Given the description of an element on the screen output the (x, y) to click on. 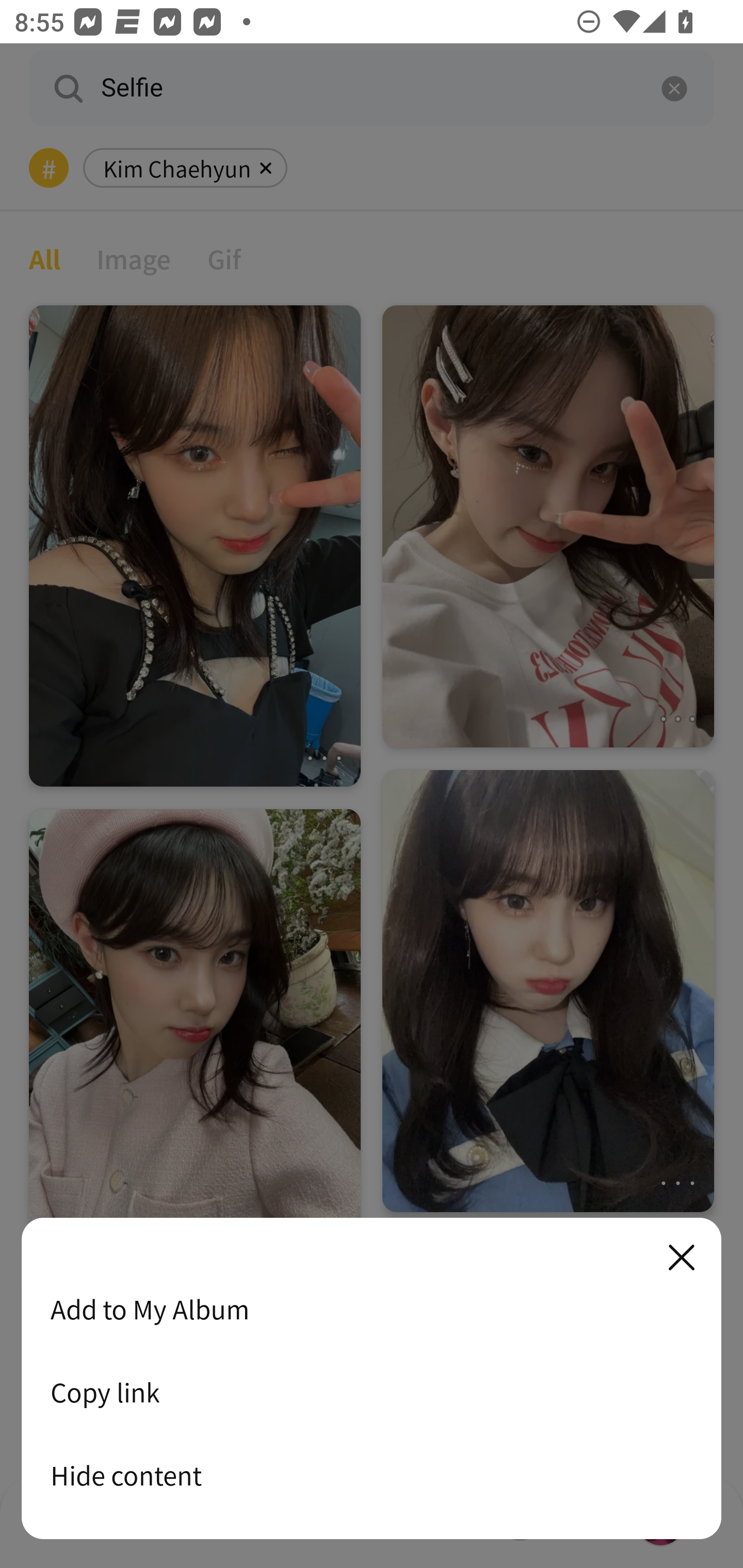
Add to My Album Copy link Hide content (371, 1378)
Add to My Album (371, 1308)
Copy link (371, 1391)
Hide content (371, 1474)
